Given the description of an element on the screen output the (x, y) to click on. 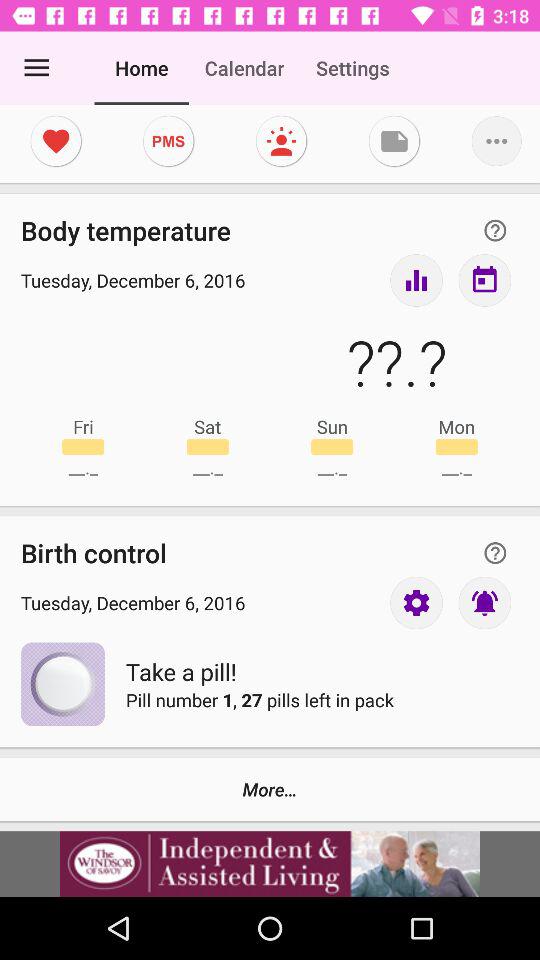
add to calendar (484, 280)
